Given the description of an element on the screen output the (x, y) to click on. 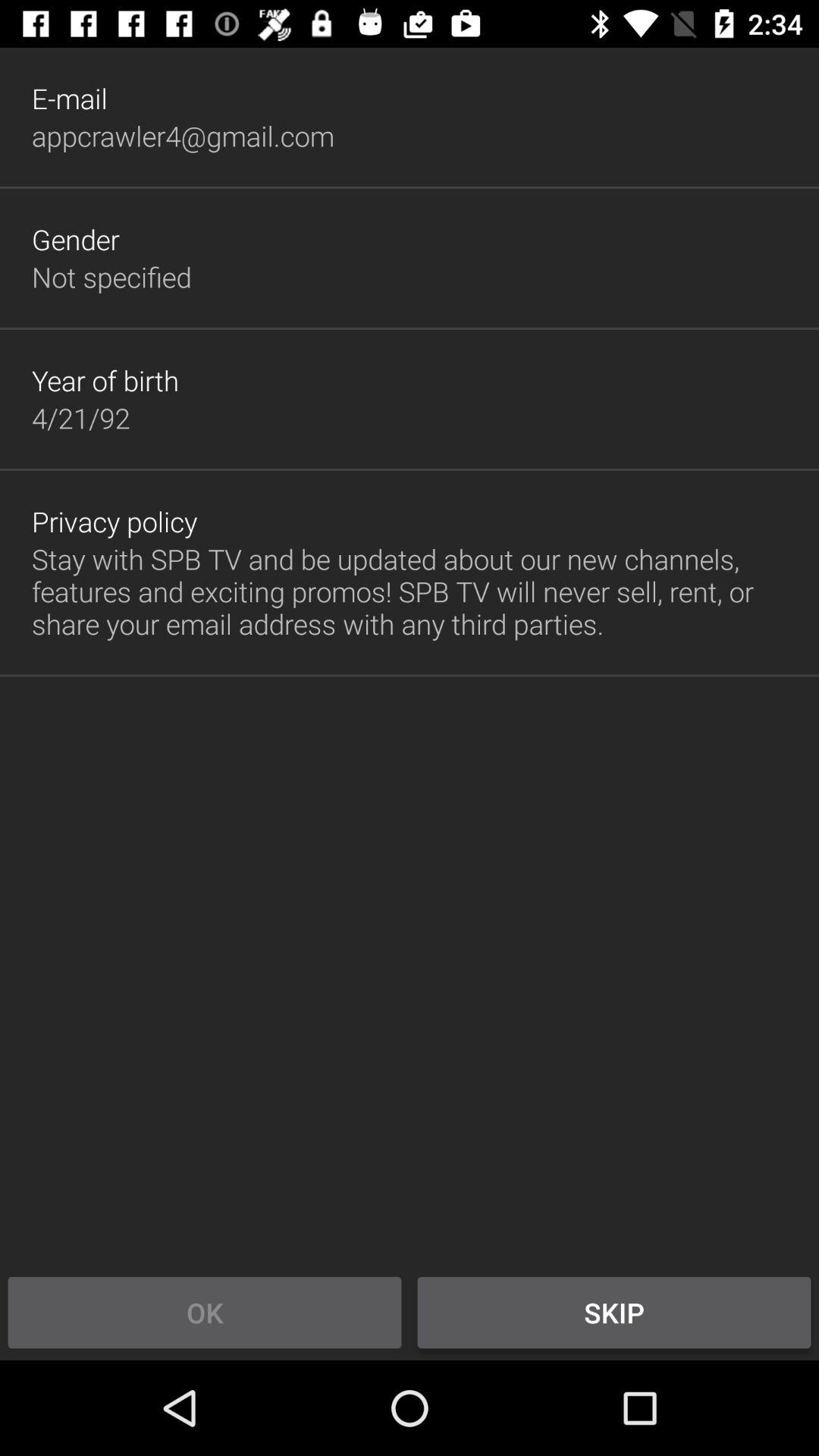
select the 4/21/92 icon (80, 417)
